Given the description of an element on the screen output the (x, y) to click on. 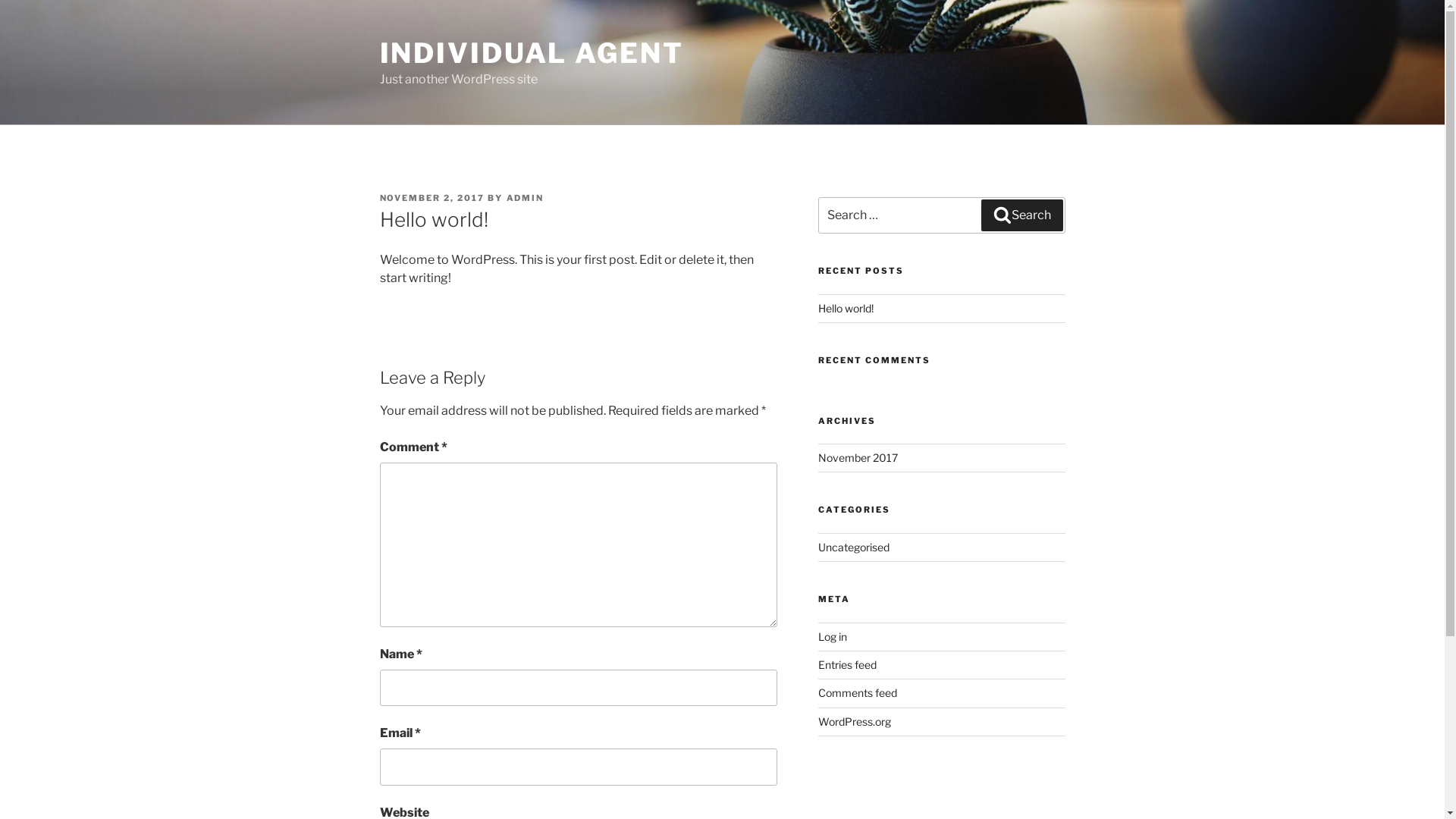
WordPress.org Element type: text (854, 721)
INDIVIDUAL AGENT Element type: text (531, 52)
Entries feed Element type: text (847, 664)
Uncategorised Element type: text (853, 546)
ADMIN Element type: text (525, 197)
Search Element type: text (1022, 215)
Log in Element type: text (832, 635)
NOVEMBER 2, 2017 Element type: text (431, 197)
Skip to content Element type: text (0, 0)
November 2017 Element type: text (857, 457)
Comments feed Element type: text (857, 692)
Hello world! Element type: text (845, 307)
